Given the description of an element on the screen output the (x, y) to click on. 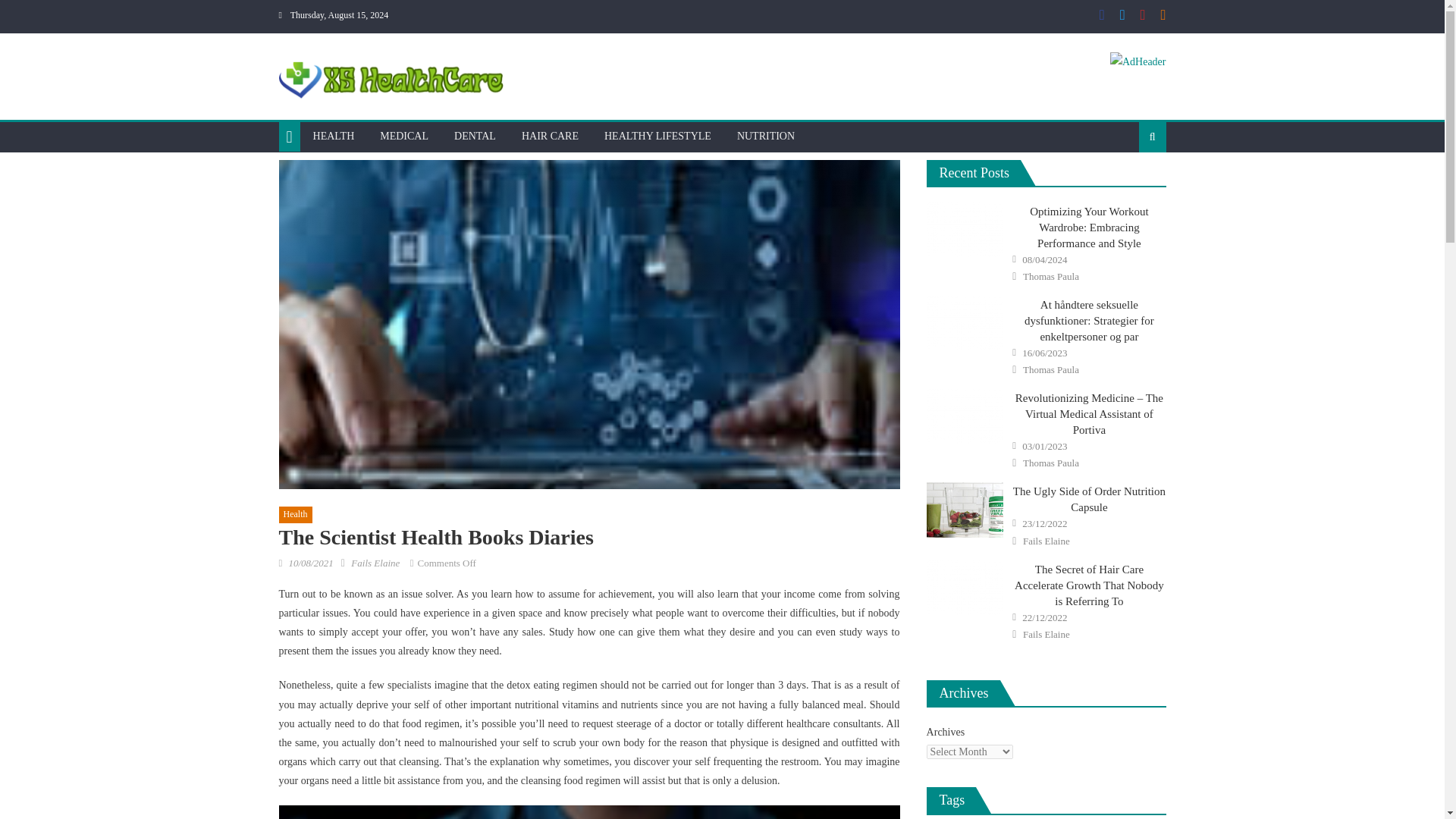
Search (1128, 194)
MEDICAL (403, 136)
Thomas Paula (1050, 276)
HEALTH (333, 136)
Fails Elaine (374, 562)
DENTAL (474, 136)
The Scientist Health Books Diaries (589, 812)
Health (296, 514)
HEALTHY LIFESTYLE (657, 136)
